Given the description of an element on the screen output the (x, y) to click on. 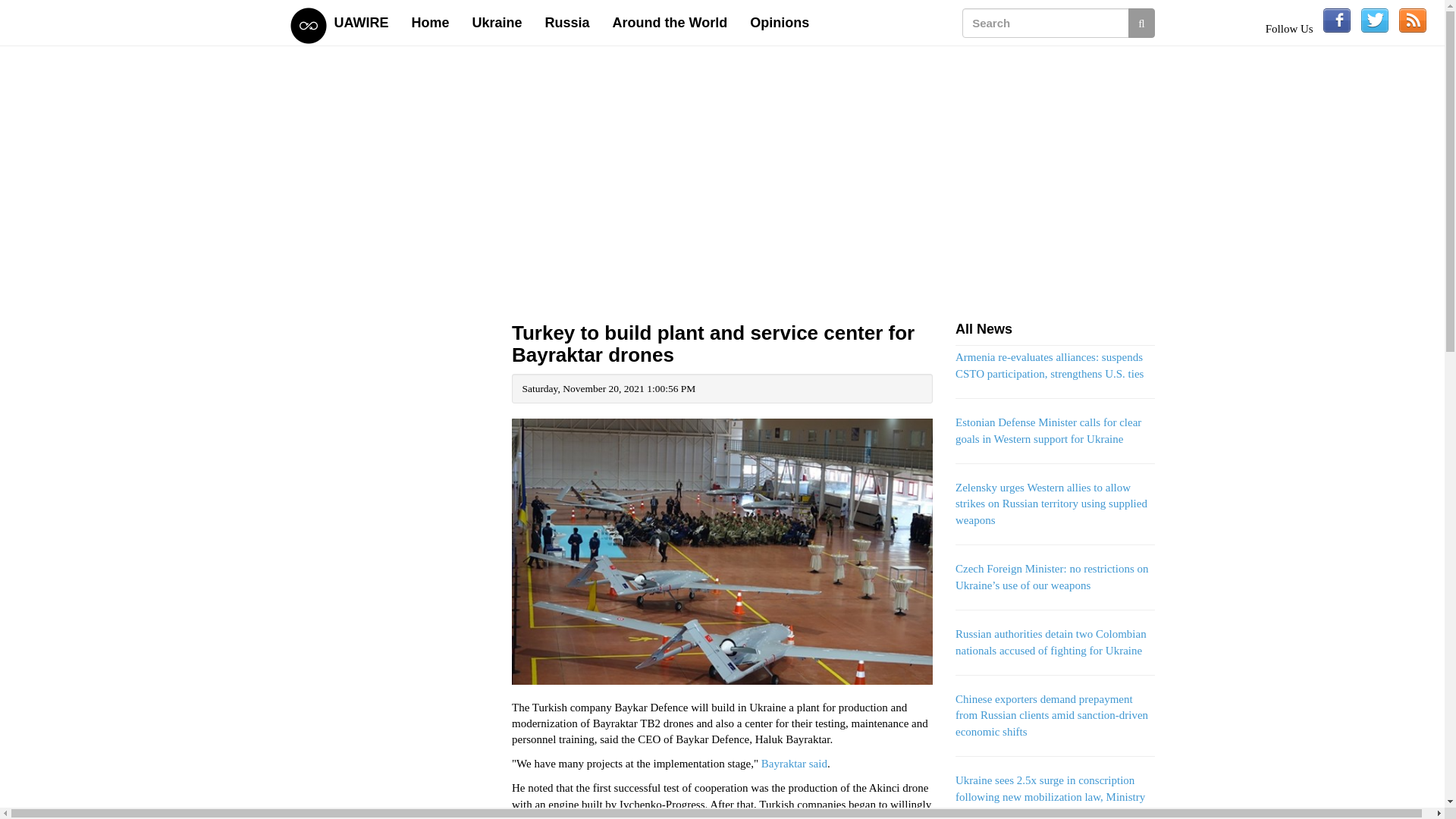
UAWIRE (361, 22)
Home (430, 22)
Subscribe to our rss feed (1412, 20)
Around the World (670, 22)
Bayraktar said (794, 763)
Follow us on Twitter (1375, 20)
